Given the description of an element on the screen output the (x, y) to click on. 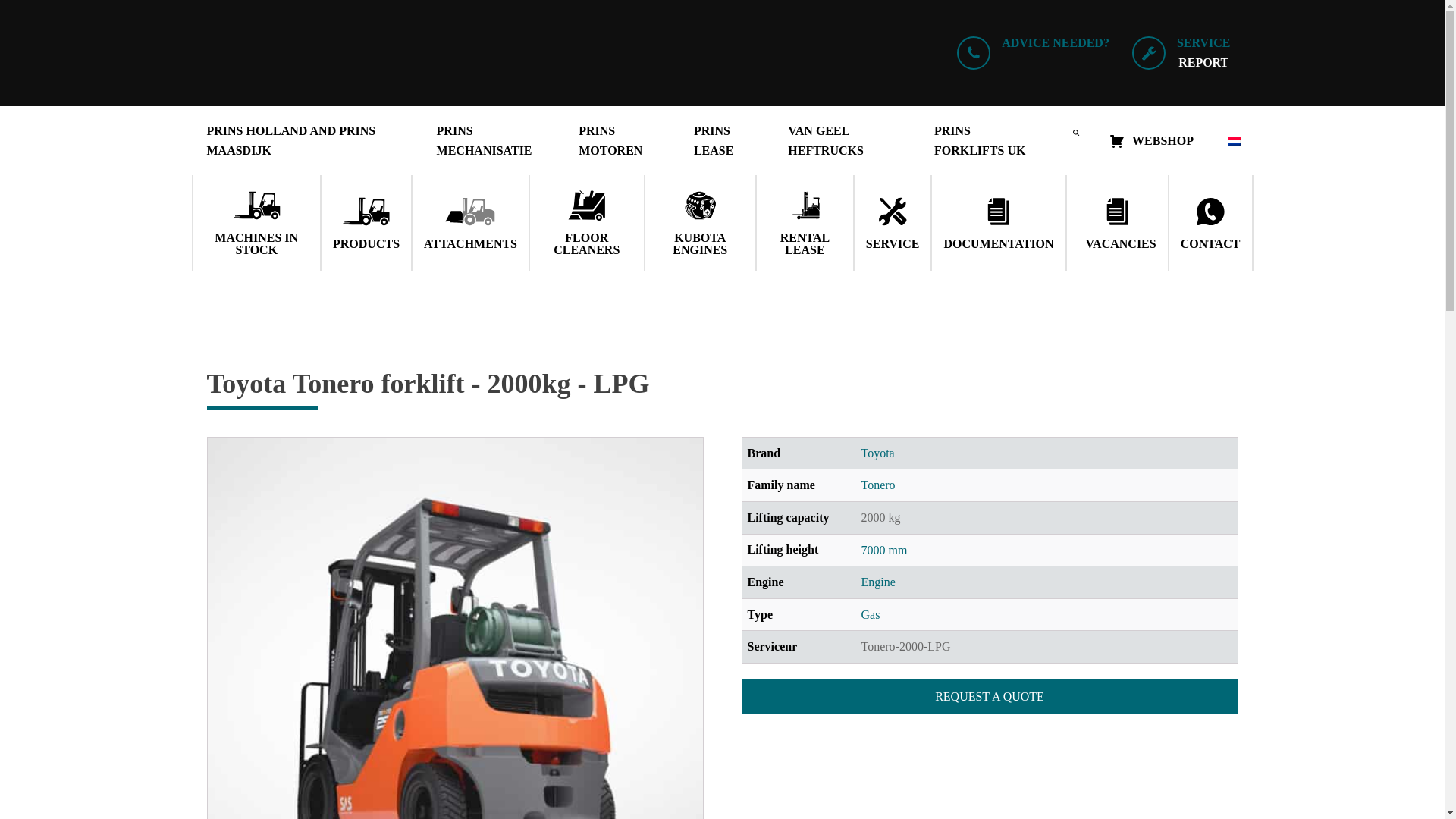
7000 mm (884, 549)
MACHINES IN STOCK (256, 223)
CONTACT (1210, 223)
FLOOR CLEANERS (586, 223)
WEBSHOP (1151, 140)
PRINS LEASE (725, 140)
PRINS MECHANISATIE (493, 140)
Tonero (878, 484)
Toyota (878, 452)
VAN GEEL HEFTRUCKS (845, 140)
SERVICE (892, 223)
ATTACHMENTS (470, 223)
VACANCIES (1117, 223)
PRINS FORKLIFTS UK (988, 140)
